Given the description of an element on the screen output the (x, y) to click on. 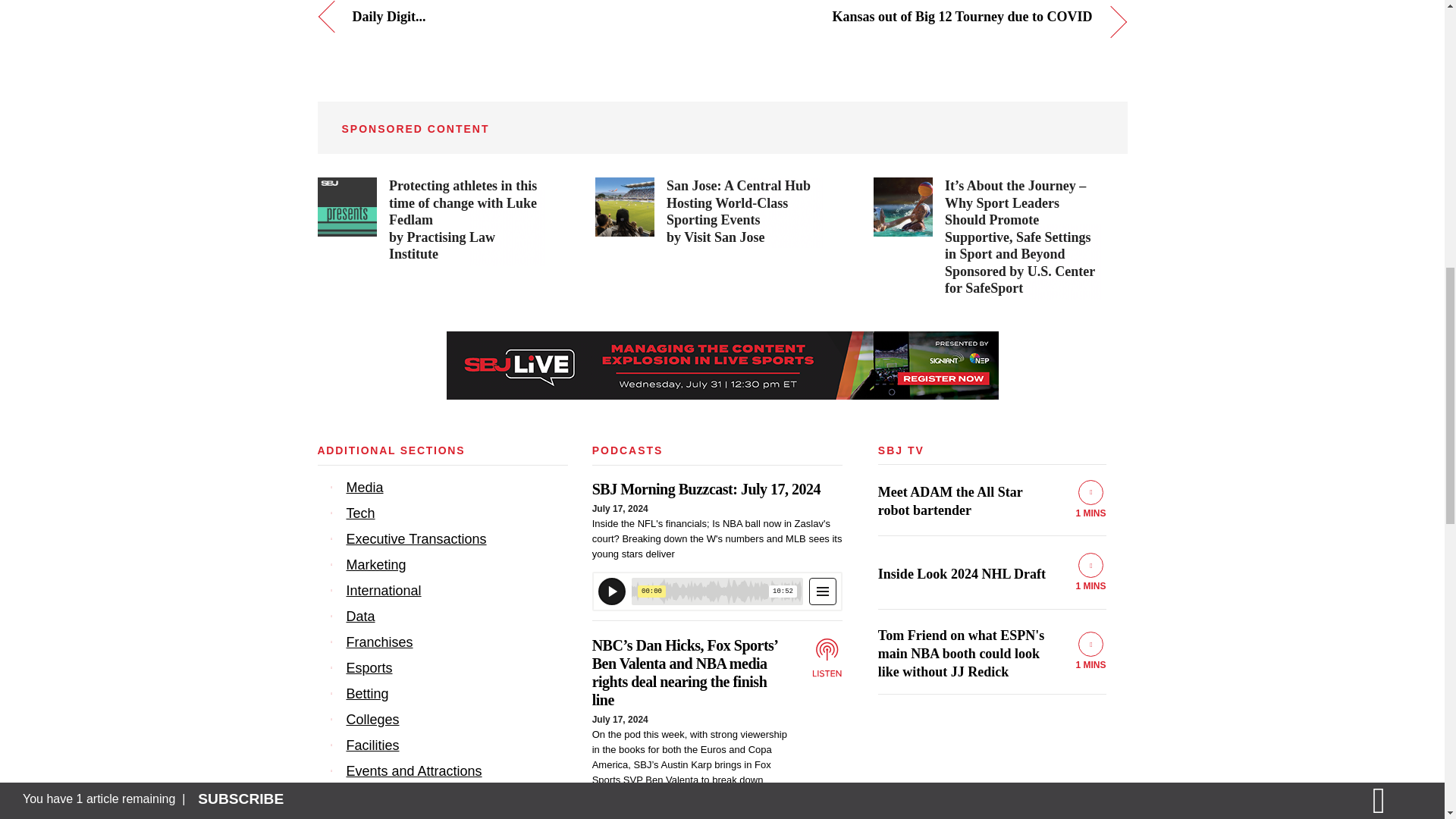
3rd party ad content (708, 212)
3rd party ad content (986, 238)
3rd party ad content (430, 221)
3rd party ad content (721, 365)
